Given the description of an element on the screen output the (x, y) to click on. 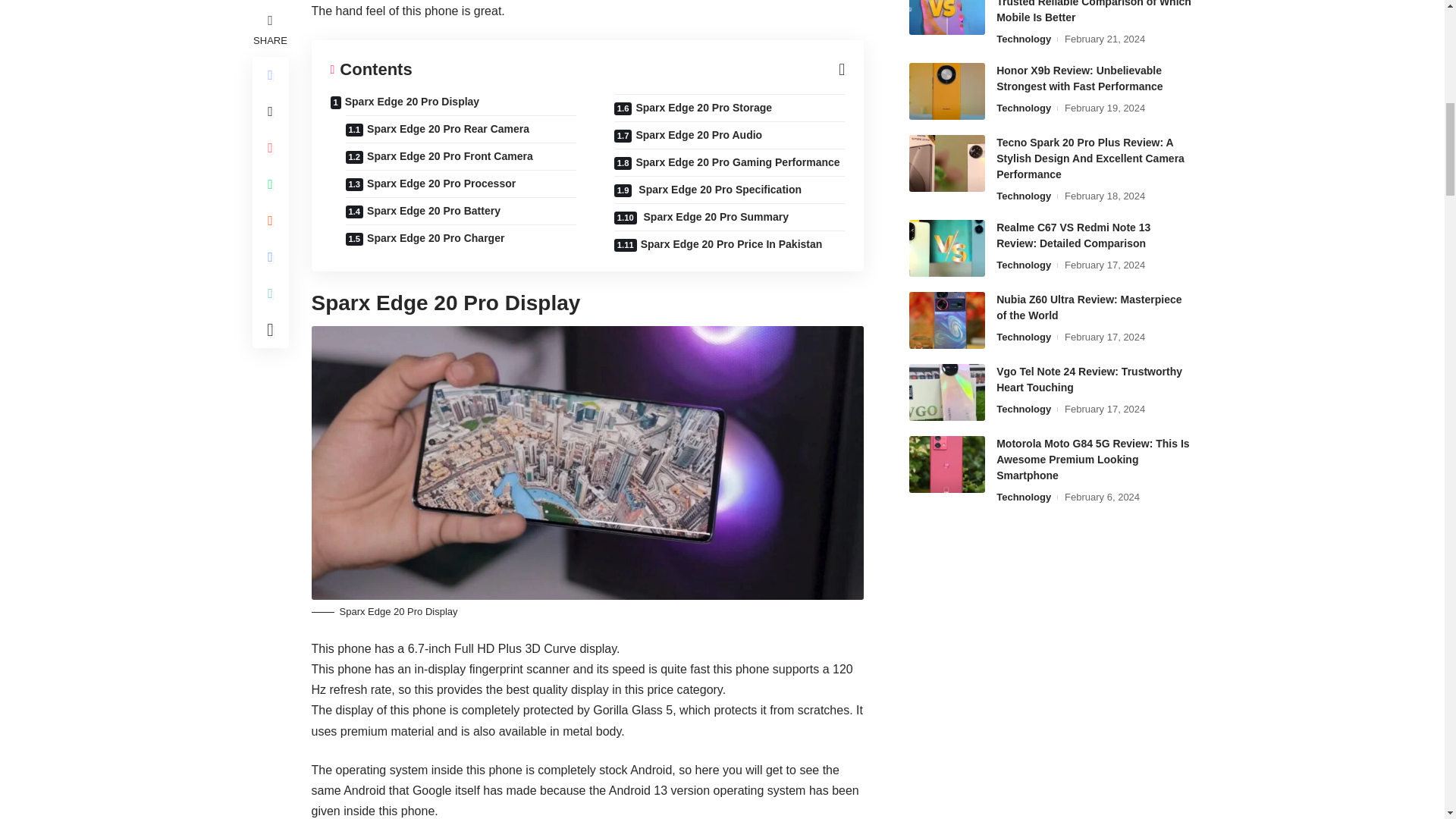
Nubia Z60 Ultra Review: Masterpiece of the World (946, 319)
Realme C67 VS Redmi Note 13 Review: Detailed Comparison (946, 248)
Vgo Tel Note 24 Review: Trustworthy Heart Touching (946, 391)
